Given the description of an element on the screen output the (x, y) to click on. 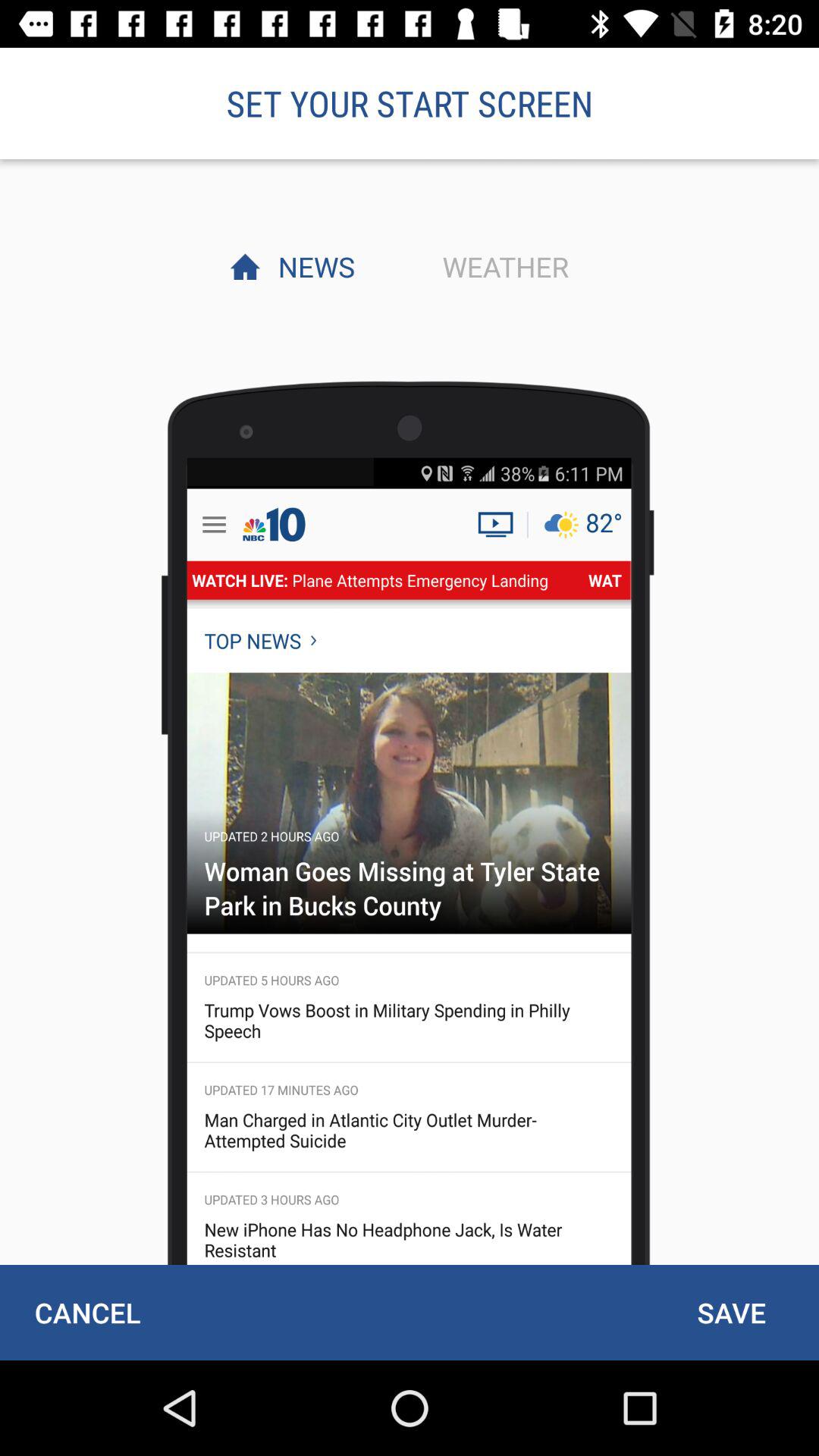
open the news icon (312, 266)
